Given the description of an element on the screen output the (x, y) to click on. 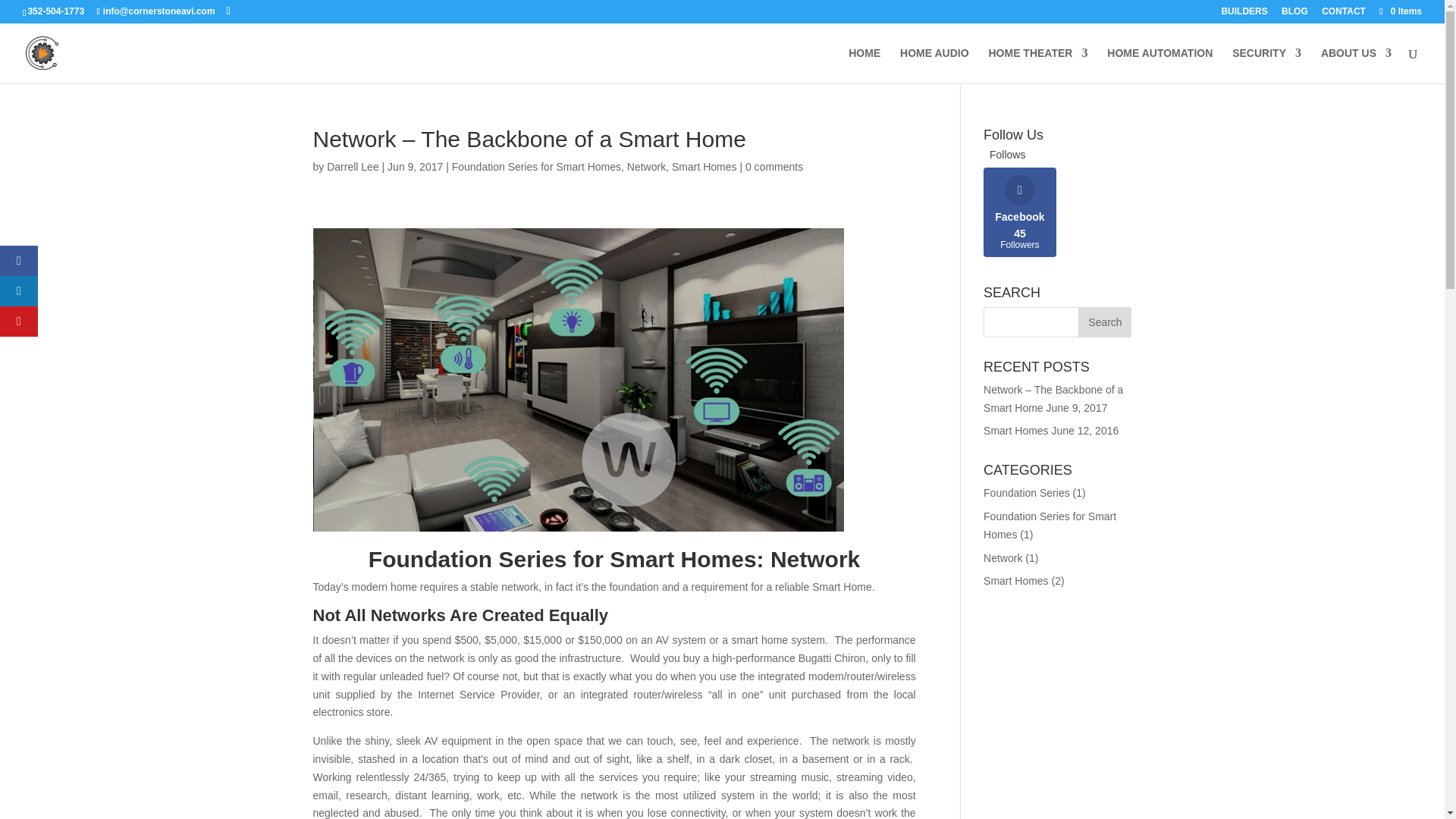
0 comments (774, 166)
Foundation Series for Smart Homes (1050, 525)
HOME AUDIO (933, 65)
Network (1003, 558)
BUILDERS (1243, 14)
SECURITY (1266, 65)
HOME (864, 65)
Foundation Series (1027, 492)
Posts by Darrell Lee (1020, 212)
Search (352, 166)
Smart Homes (1104, 322)
Smart Homes (1016, 580)
Network (1016, 430)
ABOUT US (646, 166)
